Given the description of an element on the screen output the (x, y) to click on. 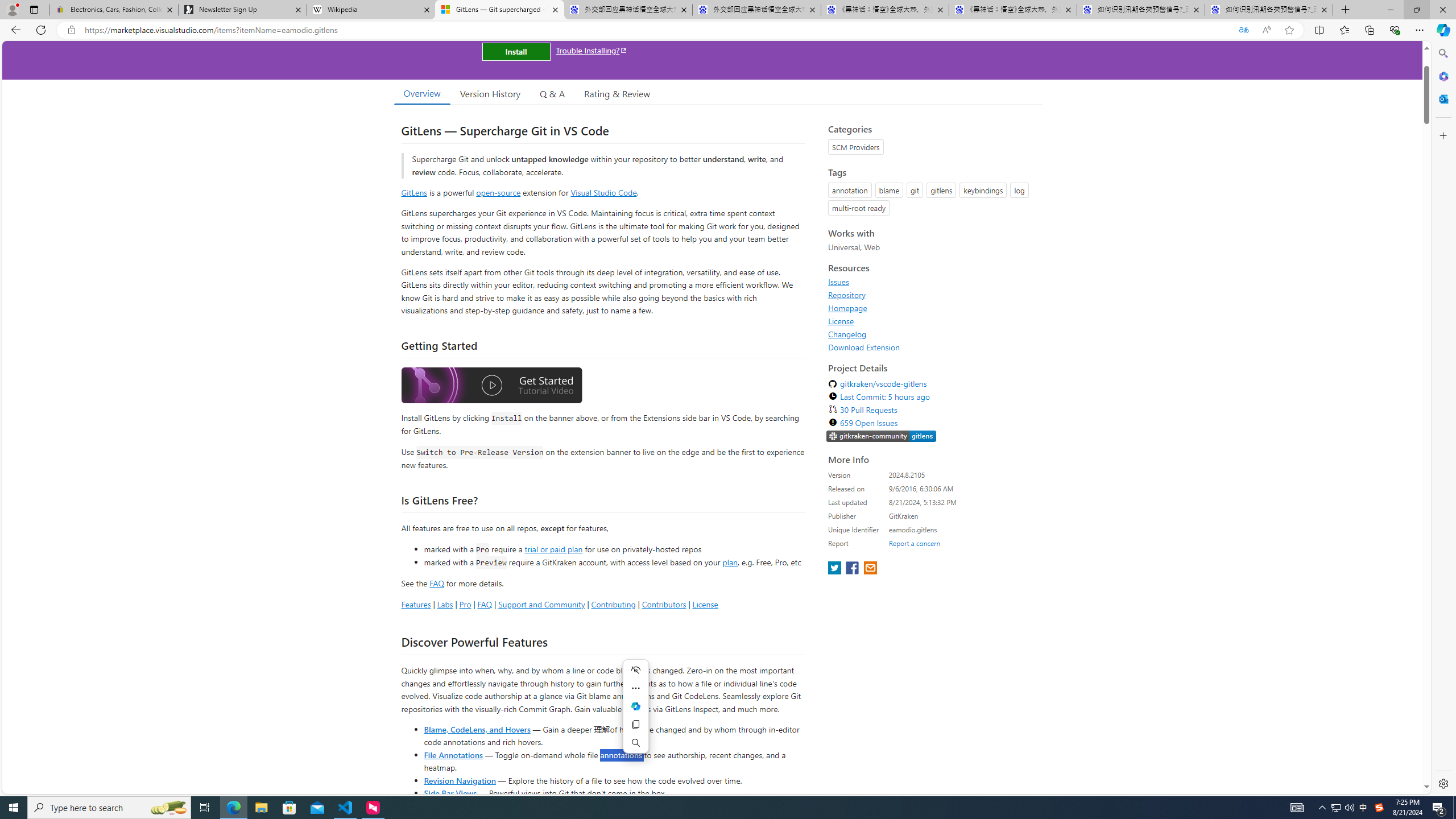
License (840, 320)
Homepage (847, 307)
Rating & Review (618, 92)
open-source (498, 192)
Watch the GitLens Getting Started video (491, 385)
